Given the description of an element on the screen output the (x, y) to click on. 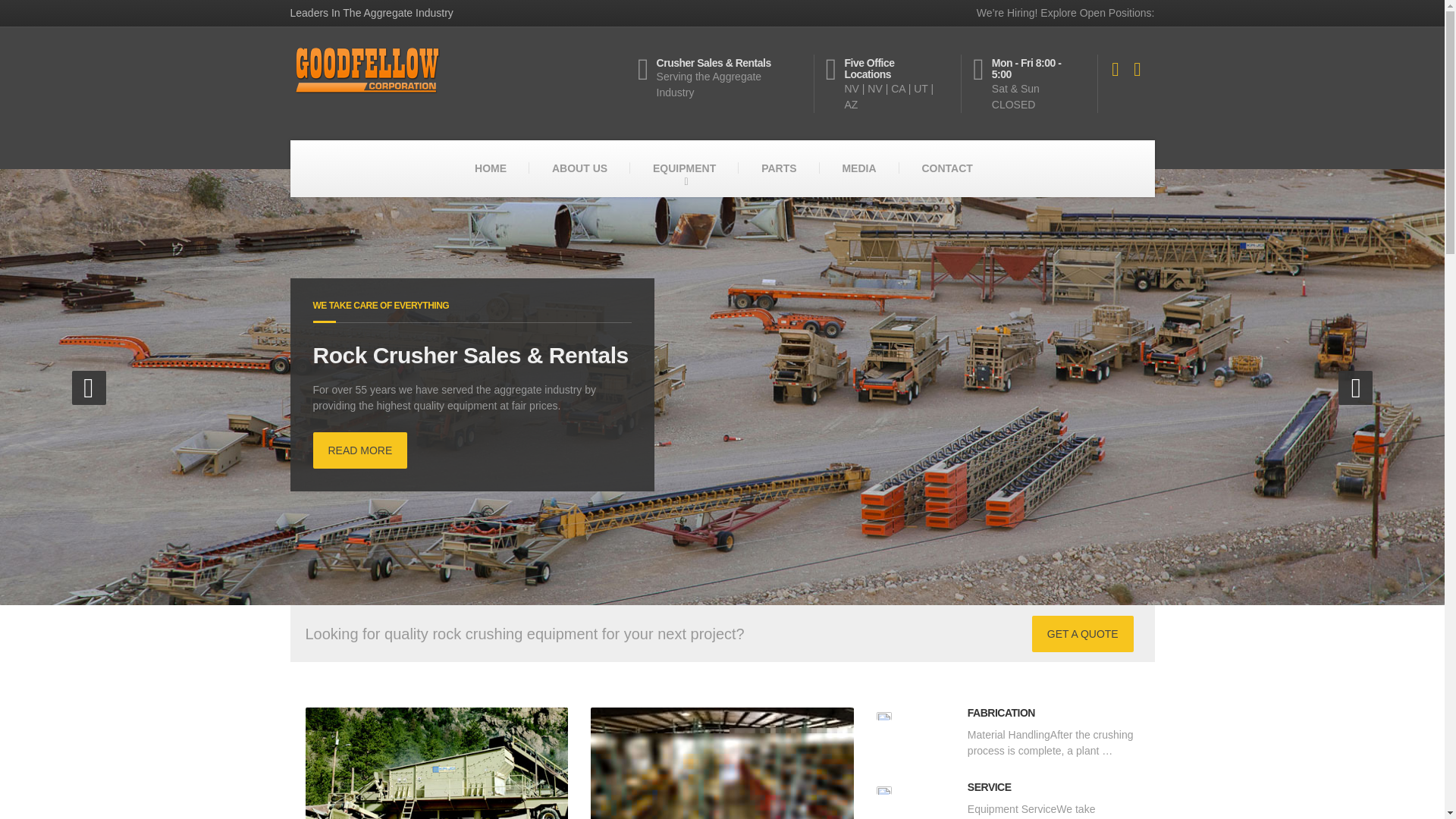
MEDIA (858, 168)
EQUIPMENT (684, 168)
GET A QUOTE (1083, 633)
CONTACT (946, 168)
HOME (490, 168)
PARTS (778, 168)
ABOUT US (579, 168)
READ MORE (360, 450)
